Given the description of an element on the screen output the (x, y) to click on. 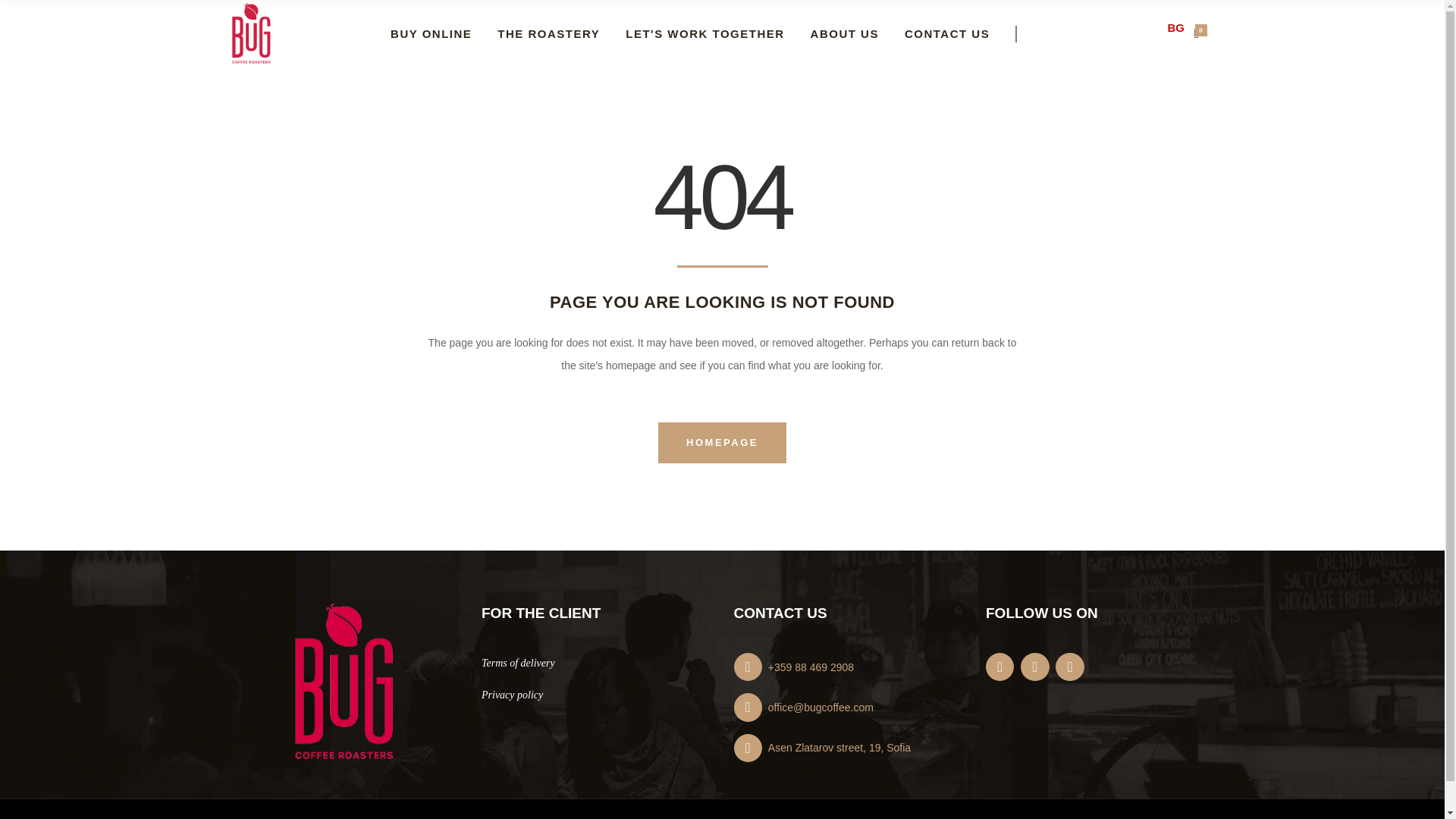
Privacy policy (512, 695)
ABOUT US (844, 33)
Terms of delivery (517, 663)
0 (1198, 34)
HOMEPAGE (722, 442)
BUY ONLINE (430, 33)
CONTACT US (960, 33)
THE ROASTERY (548, 33)
Asen Zlatarov street, 19, Sofia (848, 747)
LET'S WORK TOGETHER (704, 33)
